Given the description of an element on the screen output the (x, y) to click on. 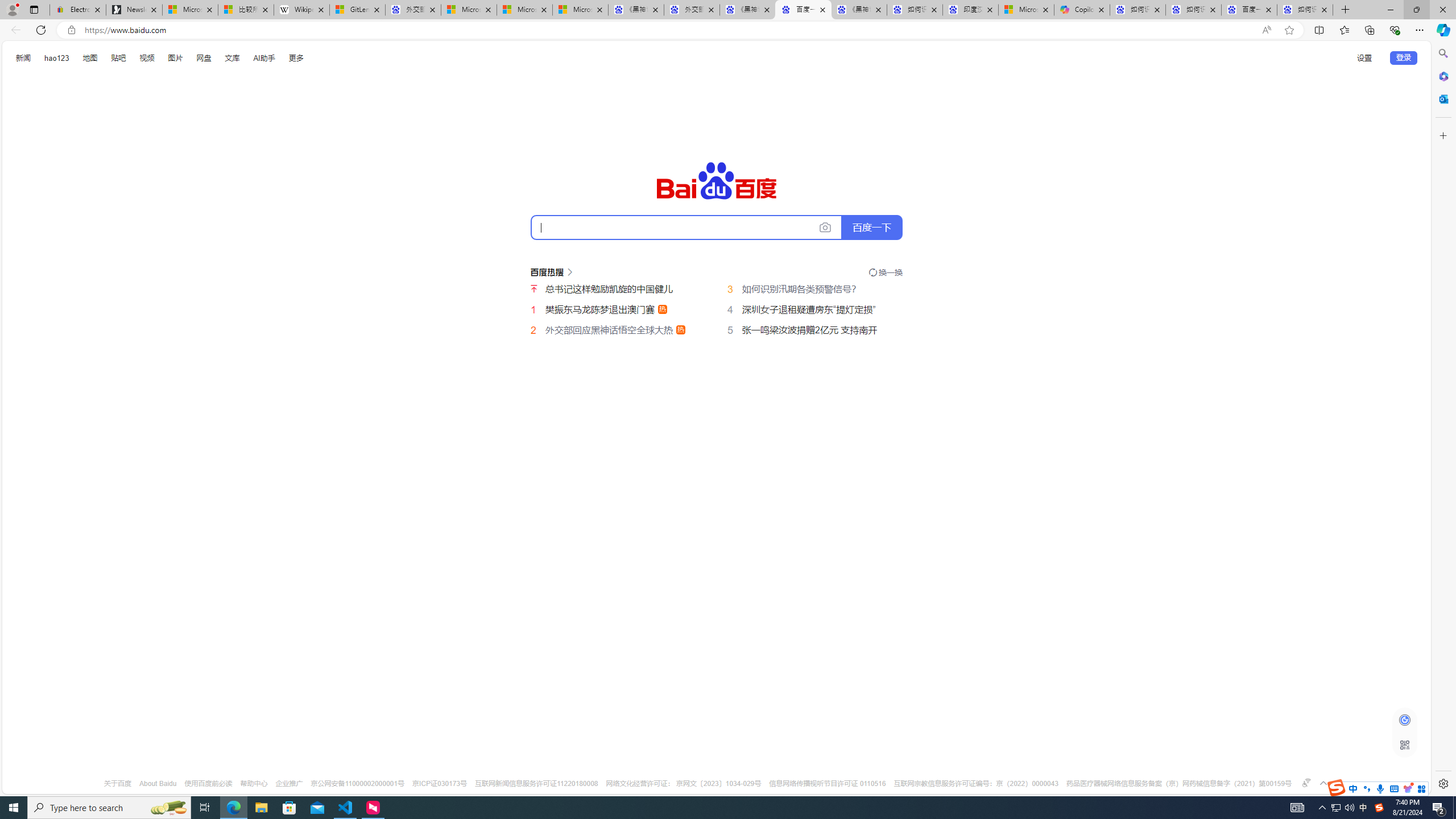
AutomationID: kw (686, 226)
hao123 (56, 57)
